Given the description of an element on the screen output the (x, y) to click on. 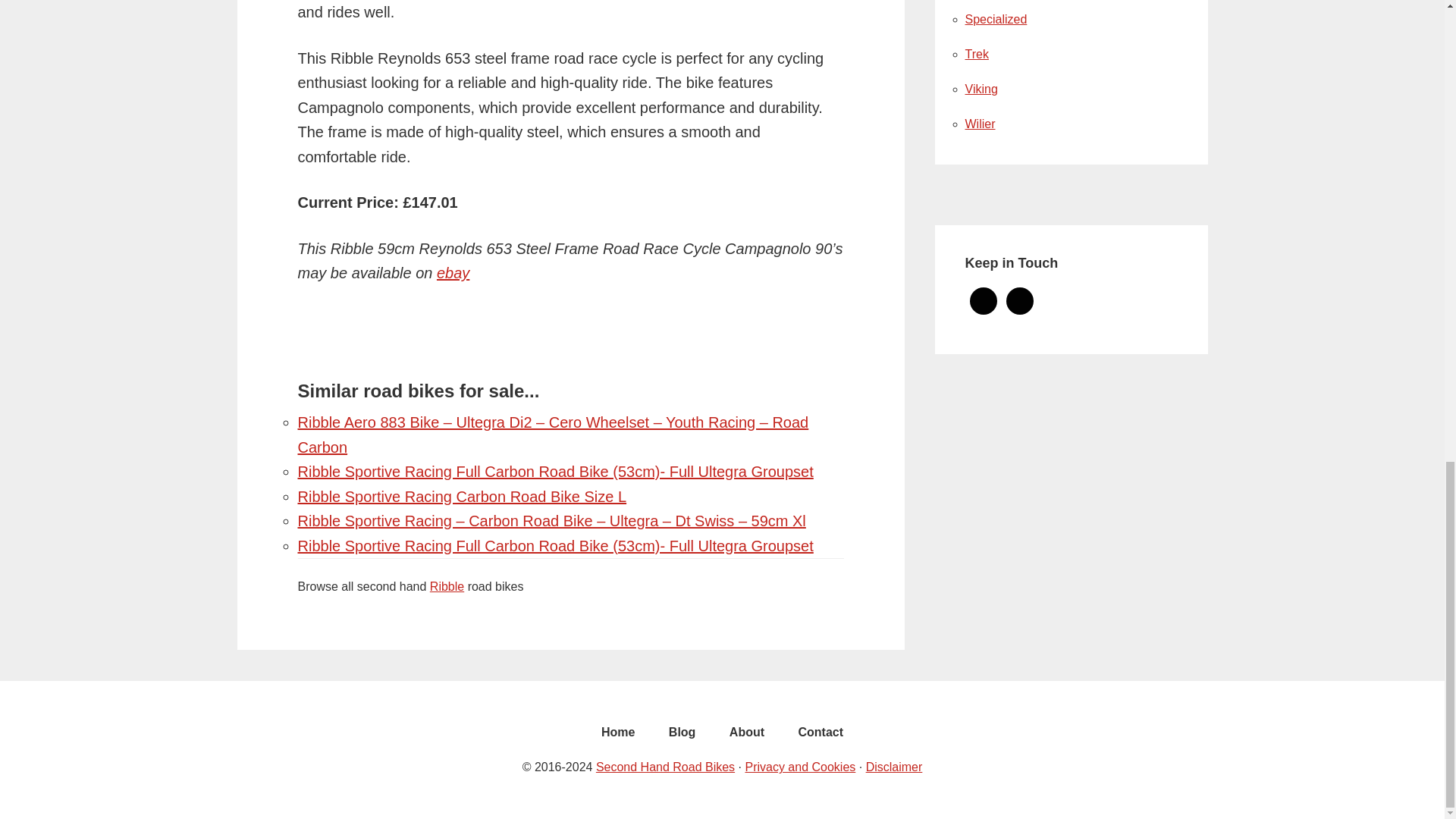
Ribble (446, 585)
Second Hand Road Bikes (665, 766)
See the Ribble Sportive Racing Carbon Road Bike Size L (461, 496)
Ribble Sportive Racing Carbon Road Bike Size L (461, 496)
ebay (452, 272)
Specialized (994, 19)
